Given the description of an element on the screen output the (x, y) to click on. 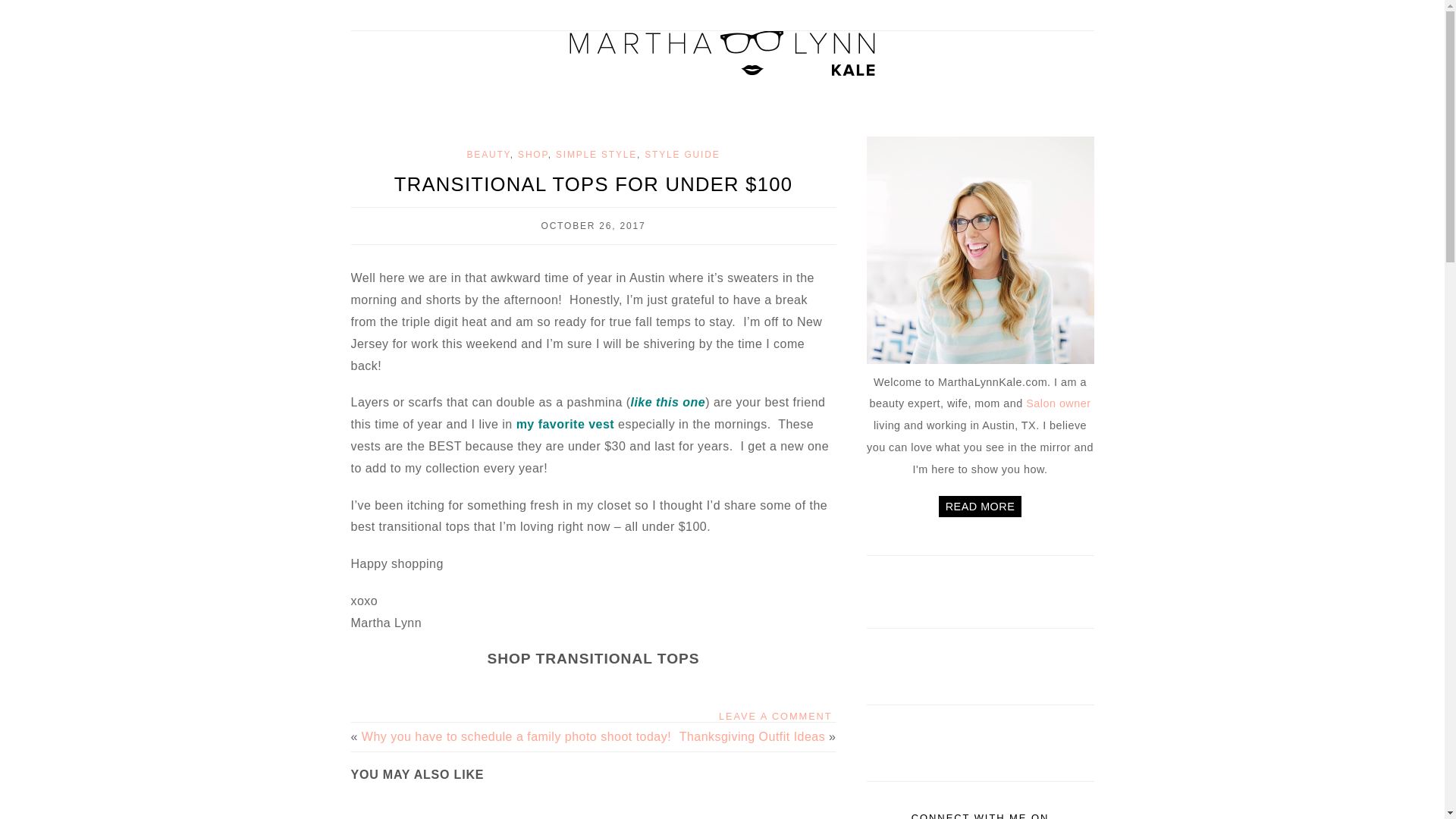
like this one (668, 401)
Salon owner (1058, 403)
BEAUTY (489, 154)
my favorite vest (565, 423)
SHOP (533, 154)
READ MORE (980, 506)
LEAVE A COMMENT (775, 715)
Martha Lynn Kale (722, 53)
STYLE GUIDE (682, 154)
Thanksgiving Outfit Ideas (752, 736)
